Given the description of an element on the screen output the (x, y) to click on. 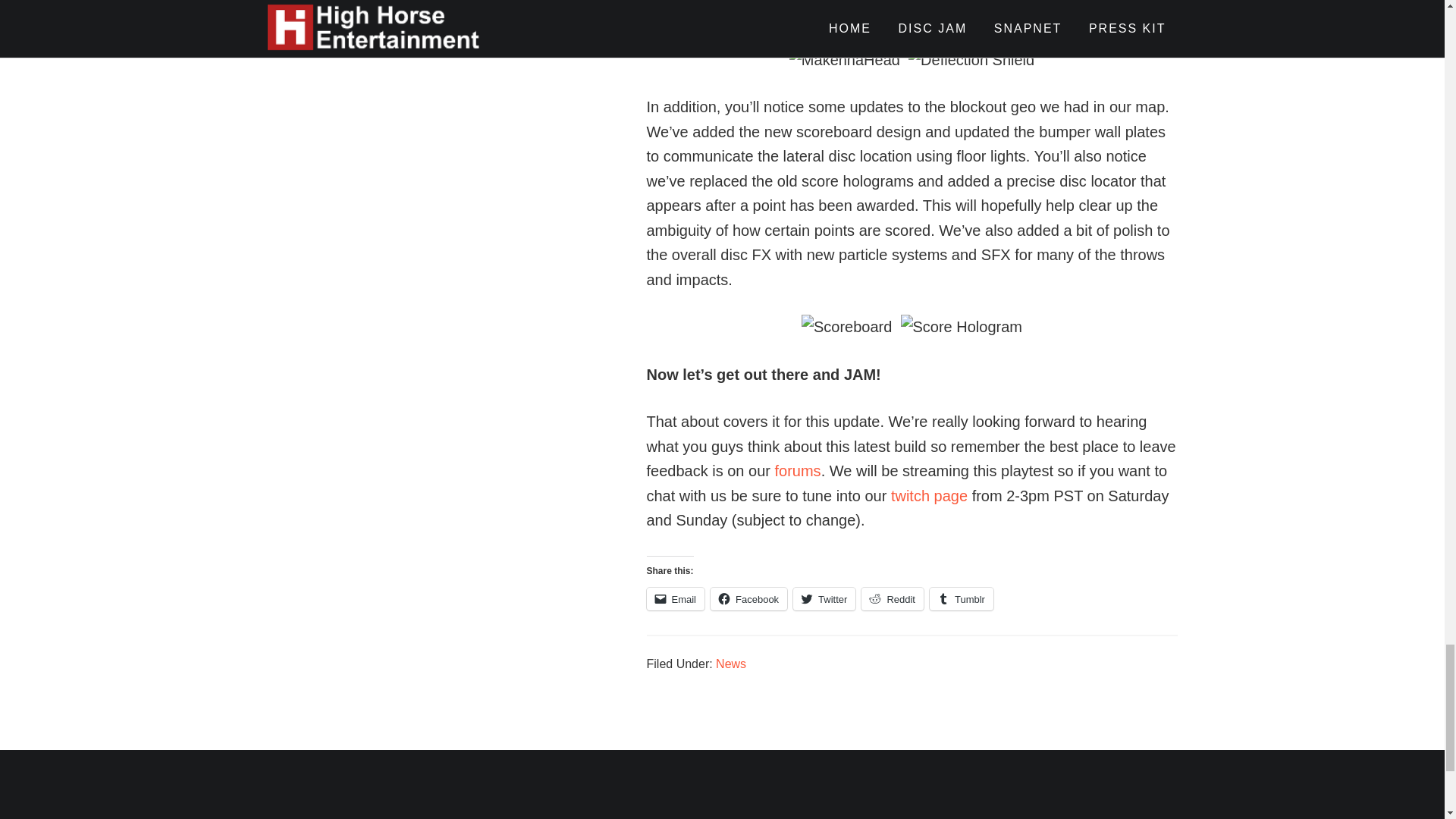
Click to share on Twitter (824, 599)
Click to email a link to a friend (675, 599)
forums (797, 470)
Twitter (824, 599)
Reddit (892, 599)
Click to share on Tumblr (961, 599)
Click to share on Facebook (748, 599)
News (730, 663)
Tumblr (961, 599)
twitch page (929, 495)
Email (675, 599)
Facebook (748, 599)
Click to share on Reddit (892, 599)
